Given the description of an element on the screen output the (x, y) to click on. 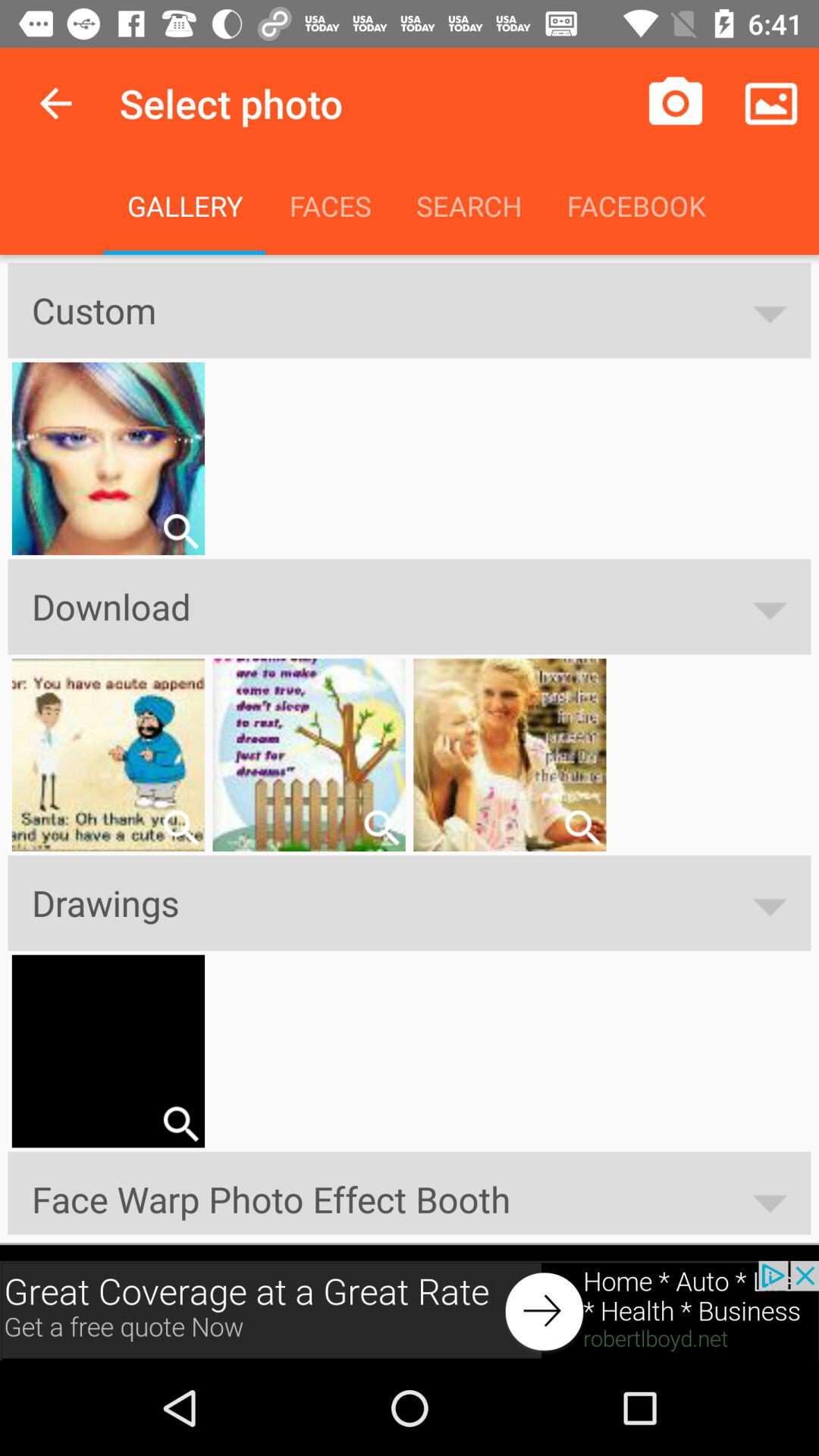
advertisement (409, 1310)
